Given the description of an element on the screen output the (x, y) to click on. 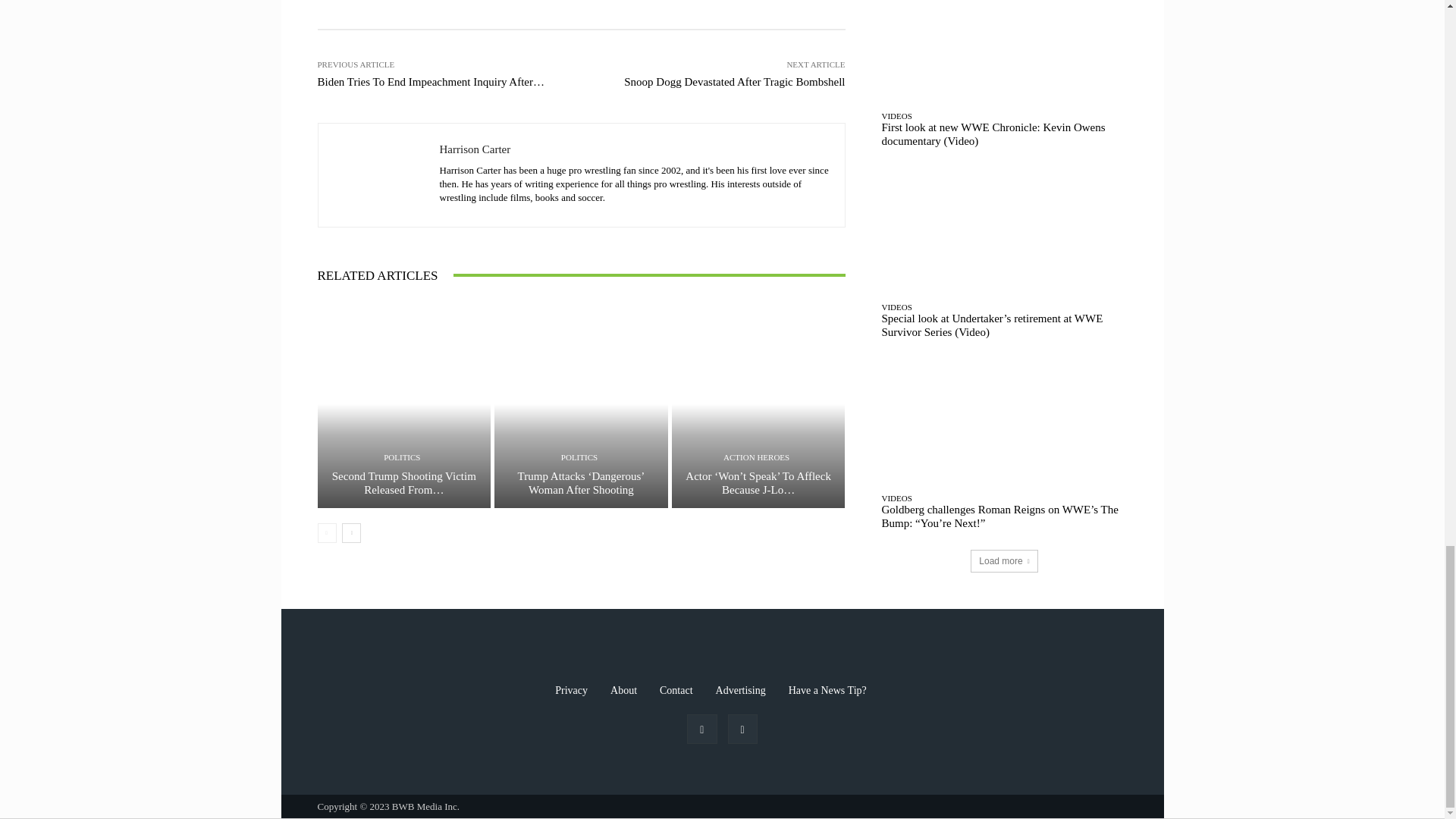
Harrison Carter (379, 174)
